Given the description of an element on the screen output the (x, y) to click on. 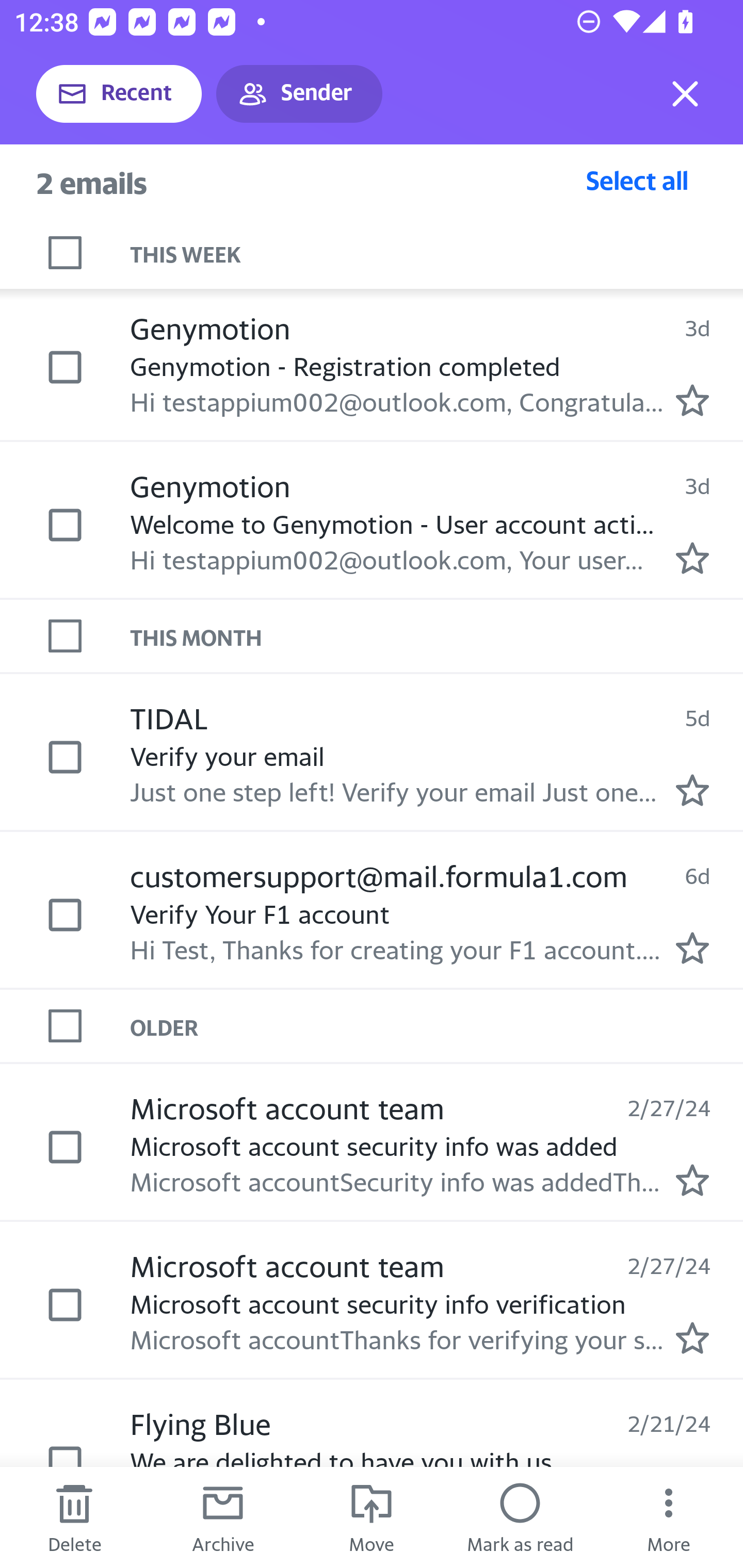
Sender (299, 93)
Exit selection mode (684, 93)
Select all (637, 180)
Mark as starred. (692, 400)
Mark as starred. (692, 557)
THIS MONTH (436, 635)
Mark as starred. (692, 789)
Mark as starred. (692, 947)
OLDER (436, 1025)
Mark as starred. (692, 1179)
Mark as starred. (692, 1338)
Delete (74, 1517)
Archive (222, 1517)
Move (371, 1517)
Mark as read (519, 1517)
More (668, 1517)
